Given the description of an element on the screen output the (x, y) to click on. 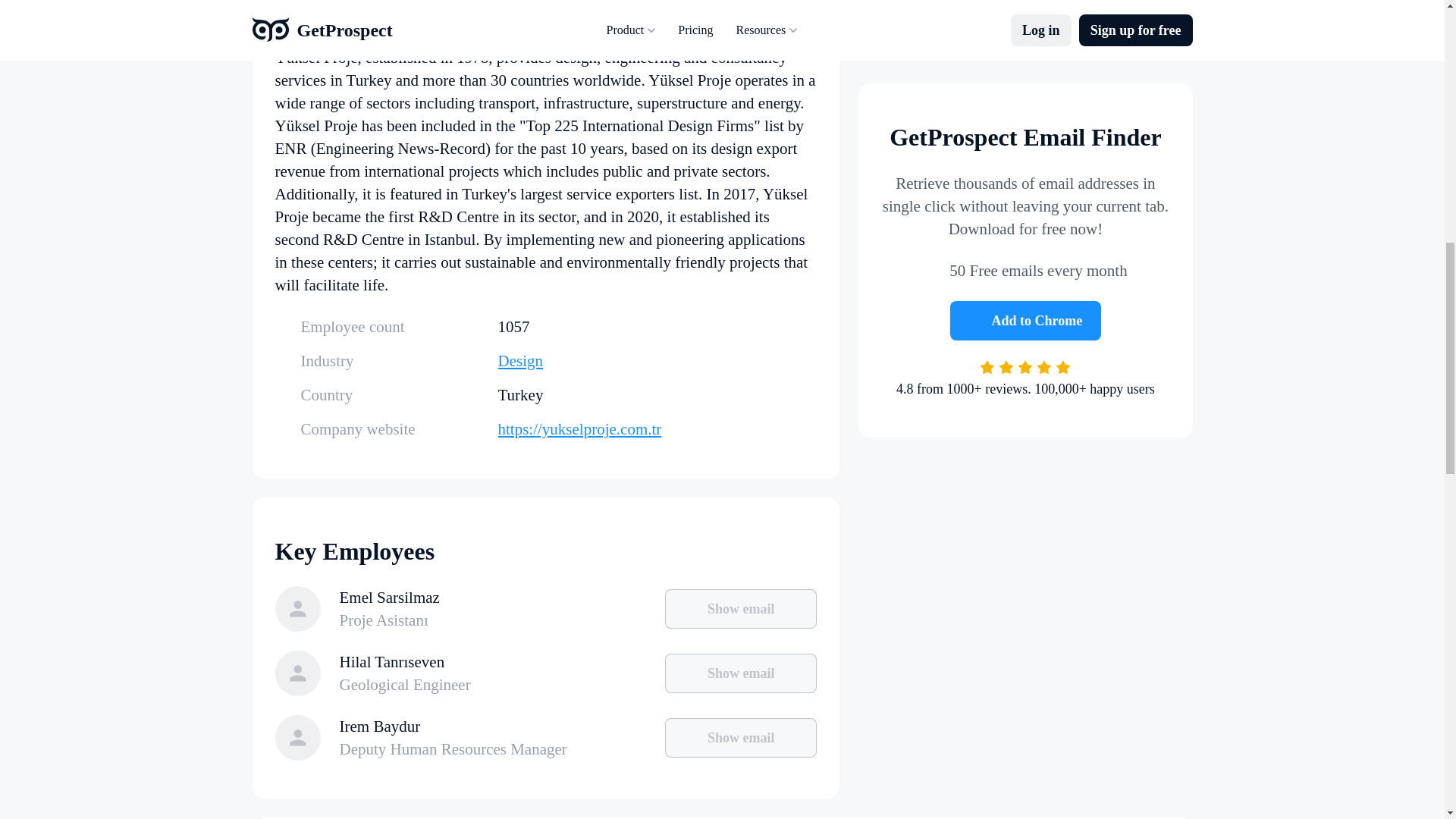
Show email (740, 608)
Design (656, 360)
Show email (740, 672)
Show email (740, 737)
Add to Chrome (1026, 194)
